Given the description of an element on the screen output the (x, y) to click on. 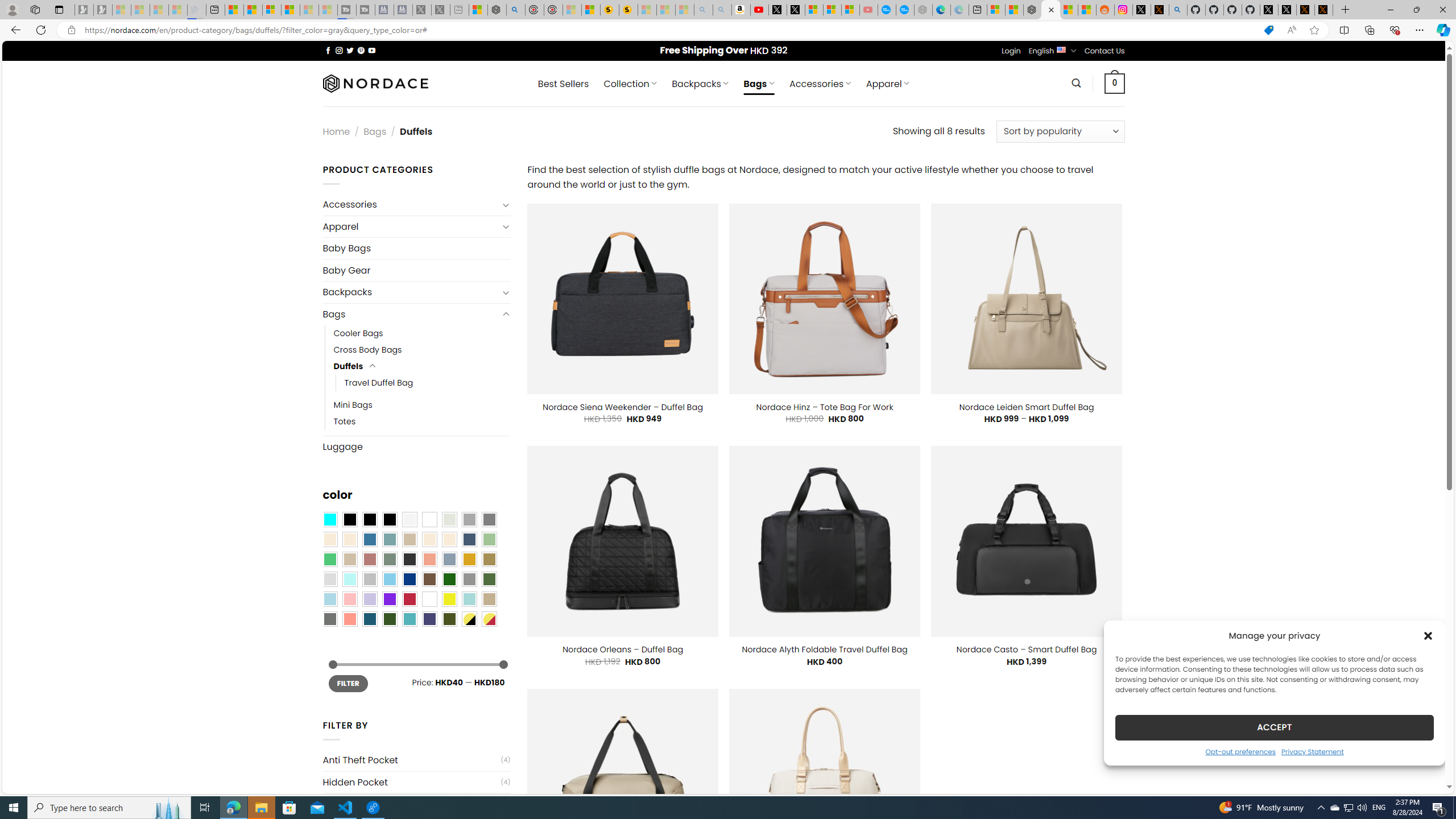
Dark Green (449, 579)
Purple Navy (429, 618)
All Black (349, 519)
Light Purple (369, 599)
Rose (369, 559)
  Best Sellers (563, 83)
